Given the description of an element on the screen output the (x, y) to click on. 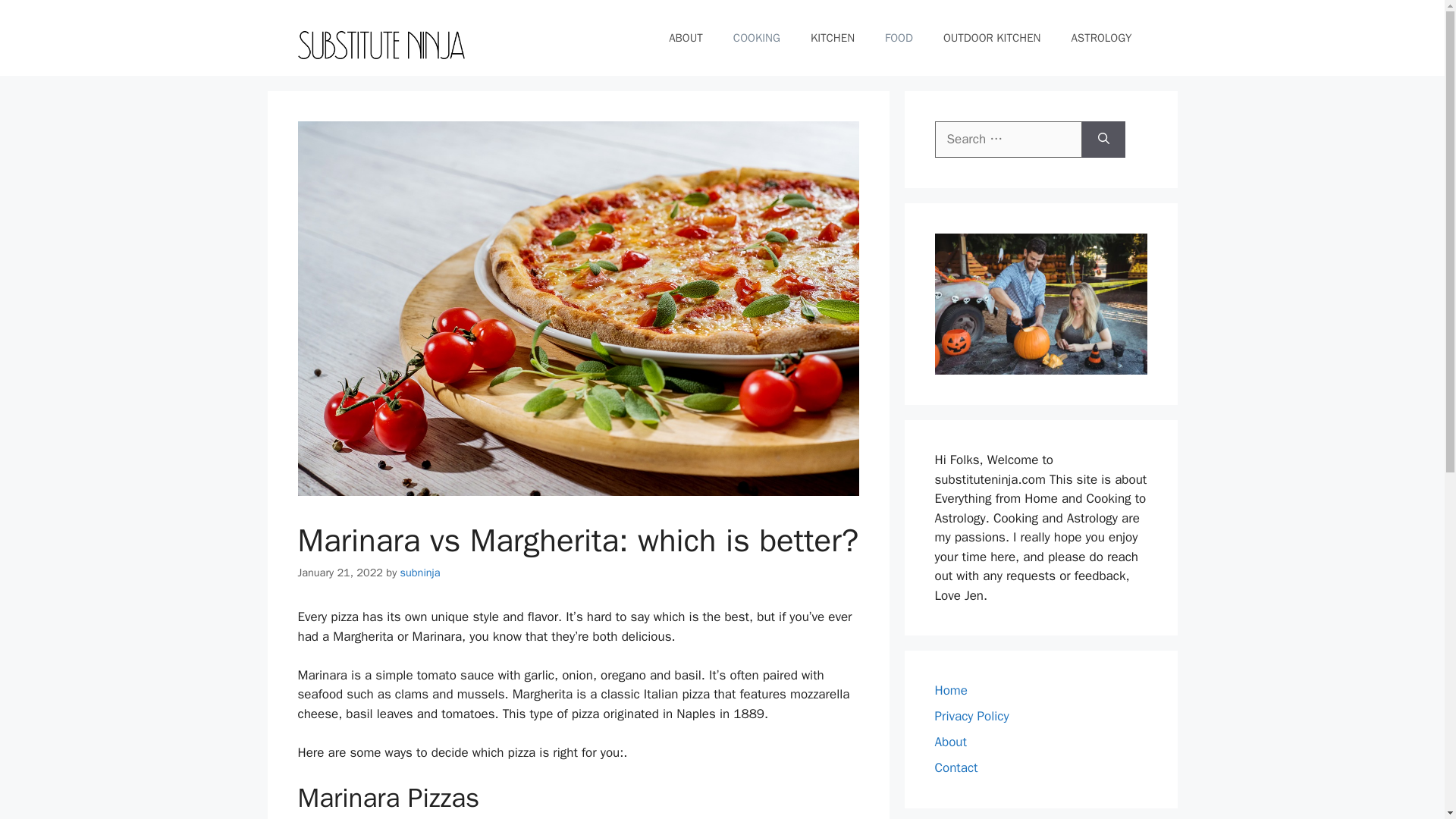
FOOD (898, 37)
Home (950, 690)
Privacy Policy (971, 715)
OUTDOOR KITCHEN (992, 37)
Search for: (1007, 139)
COOKING (755, 37)
ASTROLOGY (1101, 37)
ABOUT (685, 37)
subninja (420, 572)
View all posts by subninja (420, 572)
